Given the description of an element on the screen output the (x, y) to click on. 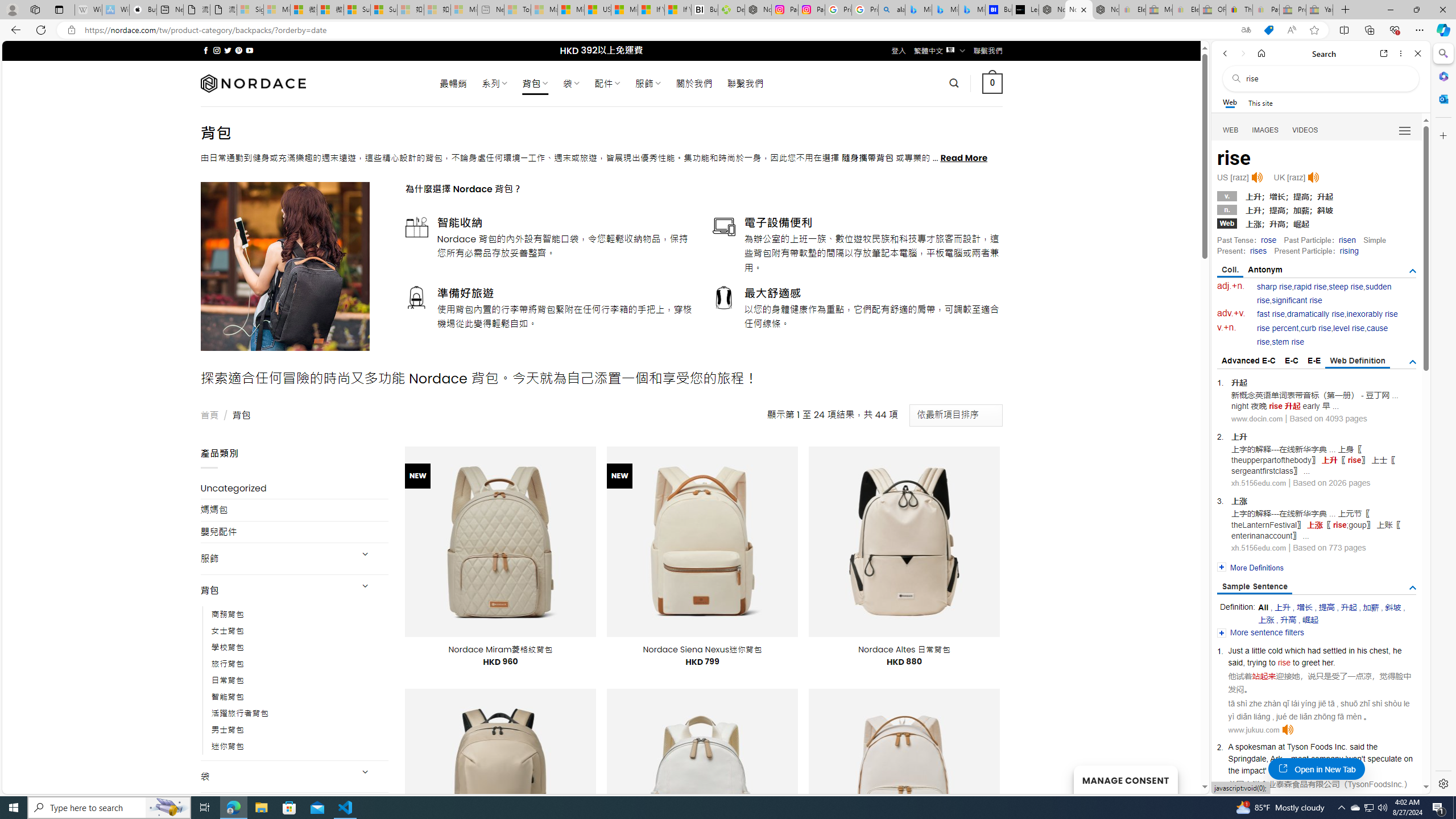
sharp rise (1274, 286)
rises (1257, 250)
fast rise (1270, 313)
of (1271, 770)
Press Room - eBay Inc. - Sleeping (1292, 9)
